Given the description of an element on the screen output the (x, y) to click on. 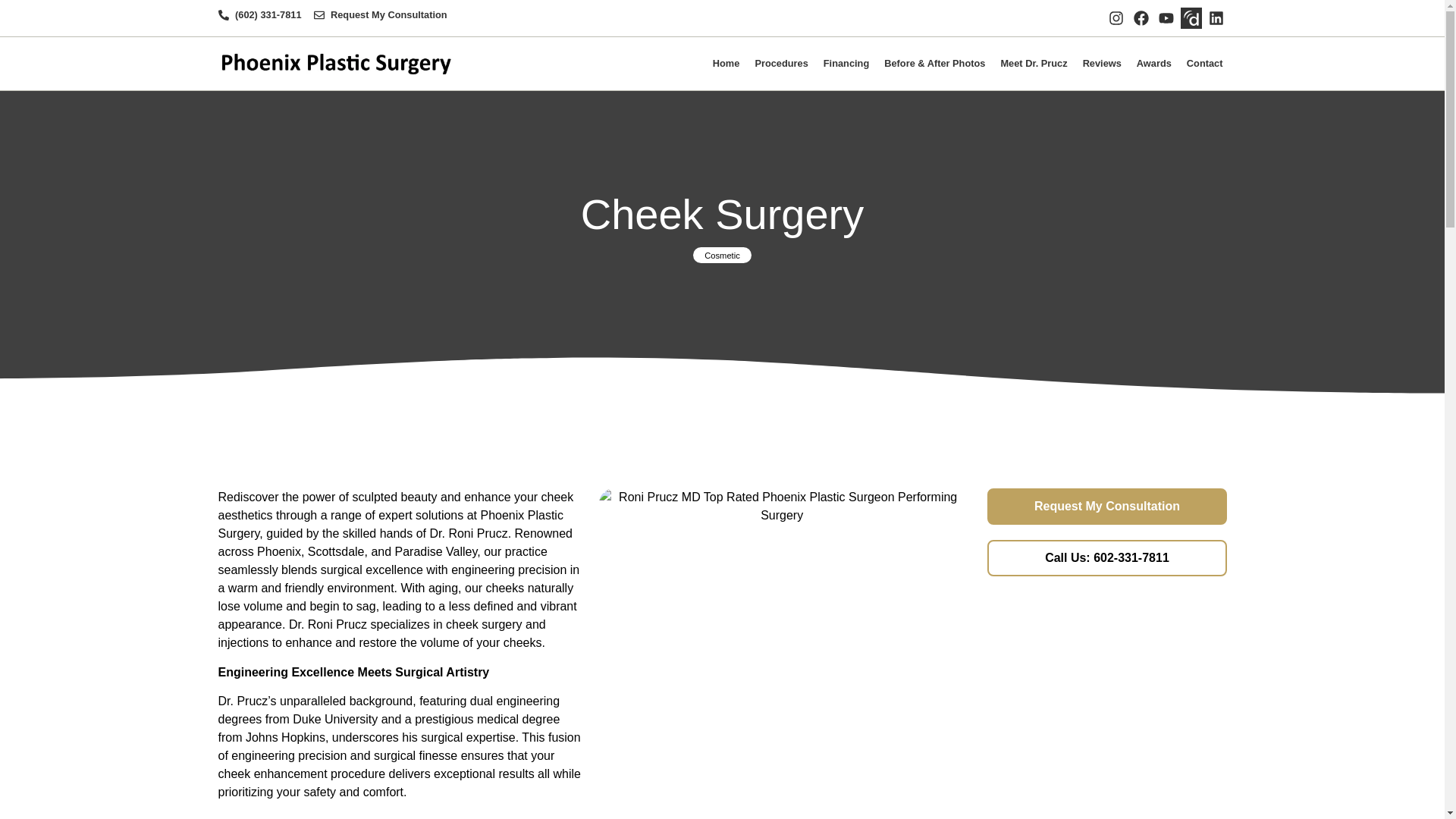
Financing (845, 63)
Request My Consultation (380, 14)
Contact (1204, 63)
Reviews (1101, 63)
Awards (1153, 63)
Home (726, 63)
Meet Dr. Prucz (1032, 63)
Procedures (780, 63)
